Given the description of an element on the screen output the (x, y) to click on. 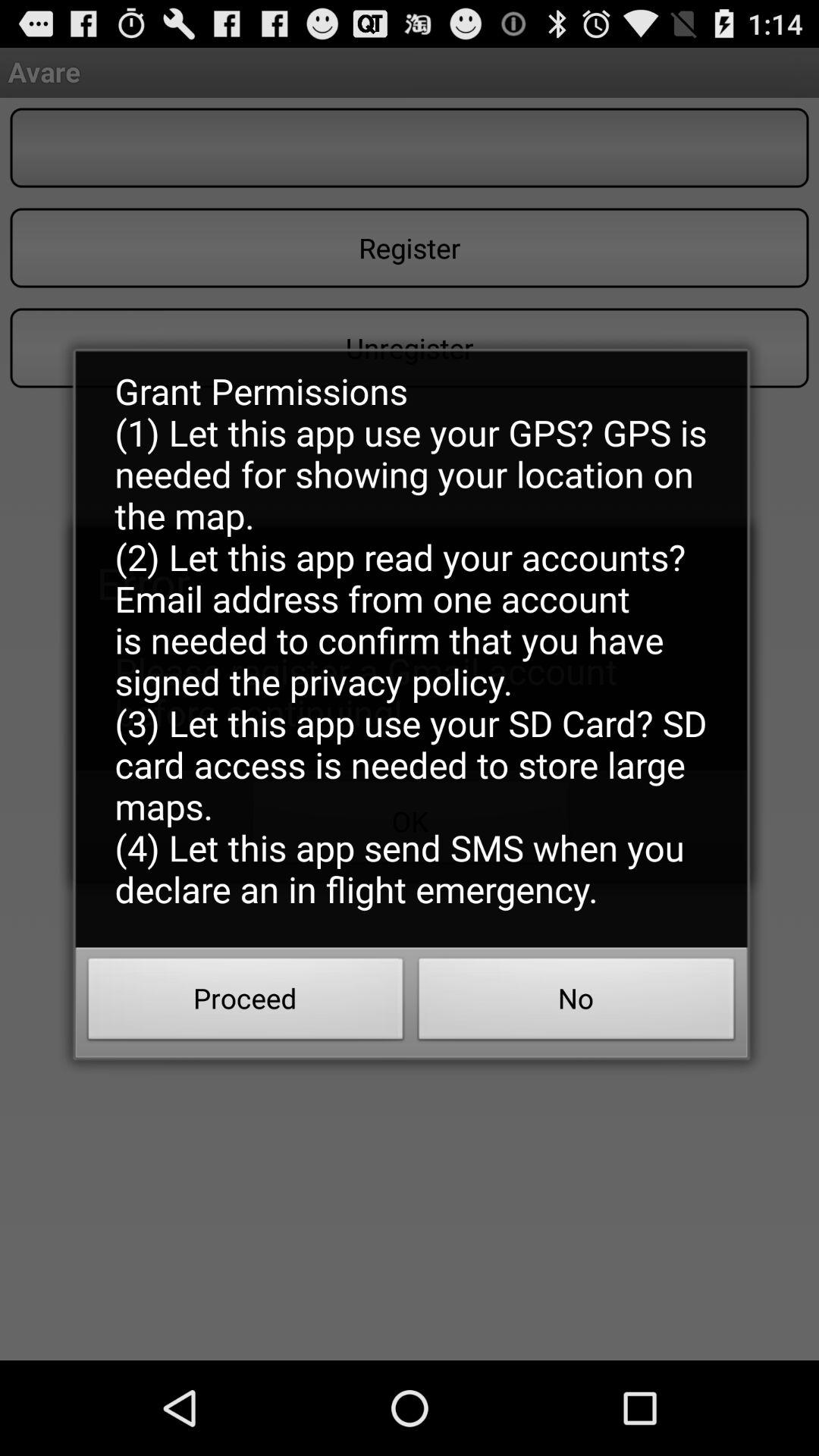
scroll to proceed item (245, 1003)
